Given the description of an element on the screen output the (x, y) to click on. 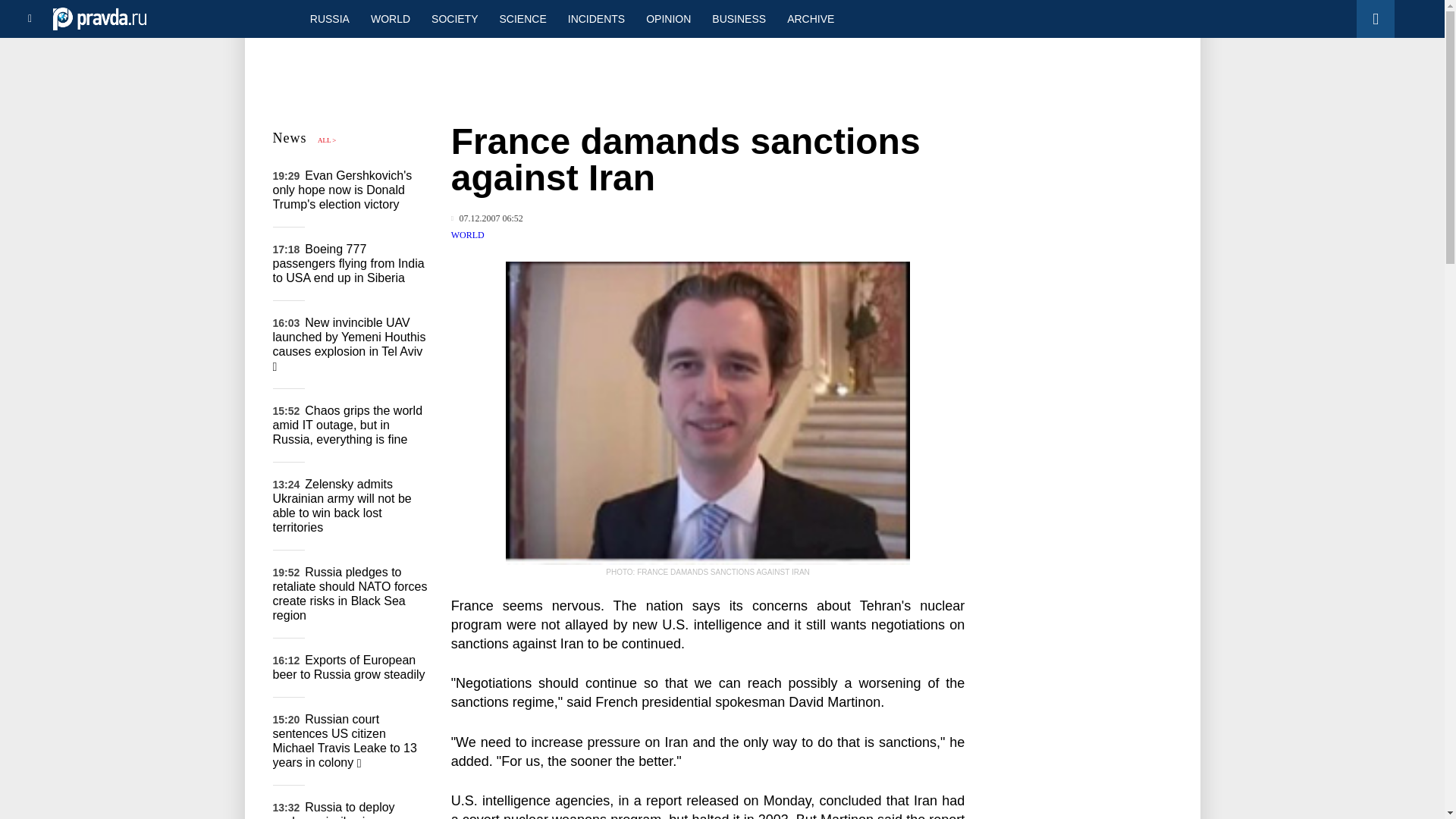
RUSSIA (329, 18)
Exports of European beer to Russia grow steadily (349, 666)
SCIENCE (523, 18)
France damands sanctions against Iran (707, 413)
INCIDENTS (595, 18)
BUSINESS (738, 18)
OPINION (667, 18)
WORLD (389, 18)
News (290, 137)
